Given the description of an element on the screen output the (x, y) to click on. 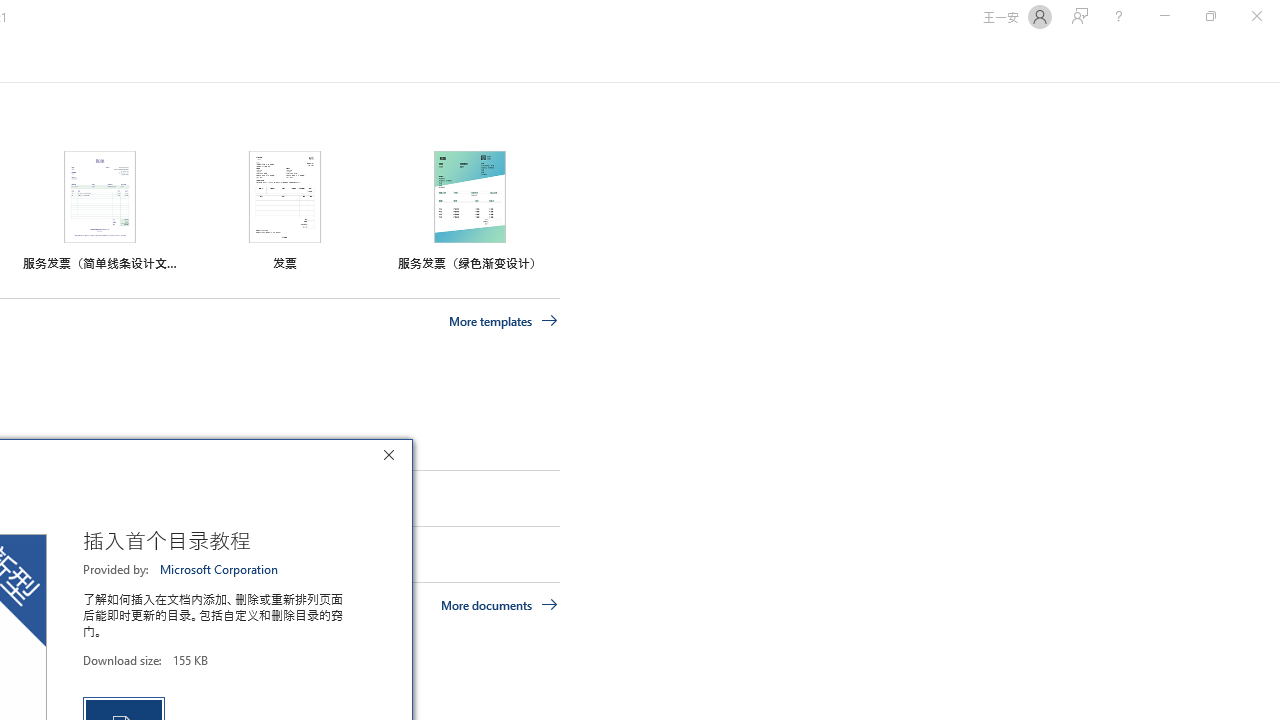
More documents (499, 604)
Close (393, 457)
Minimize (1164, 16)
Restore Down (1210, 16)
Microsoft Corporation (220, 569)
Help (1118, 16)
More templates (503, 321)
Class: NetUIScrollBar (1271, 59)
